Given the description of an element on the screen output the (x, y) to click on. 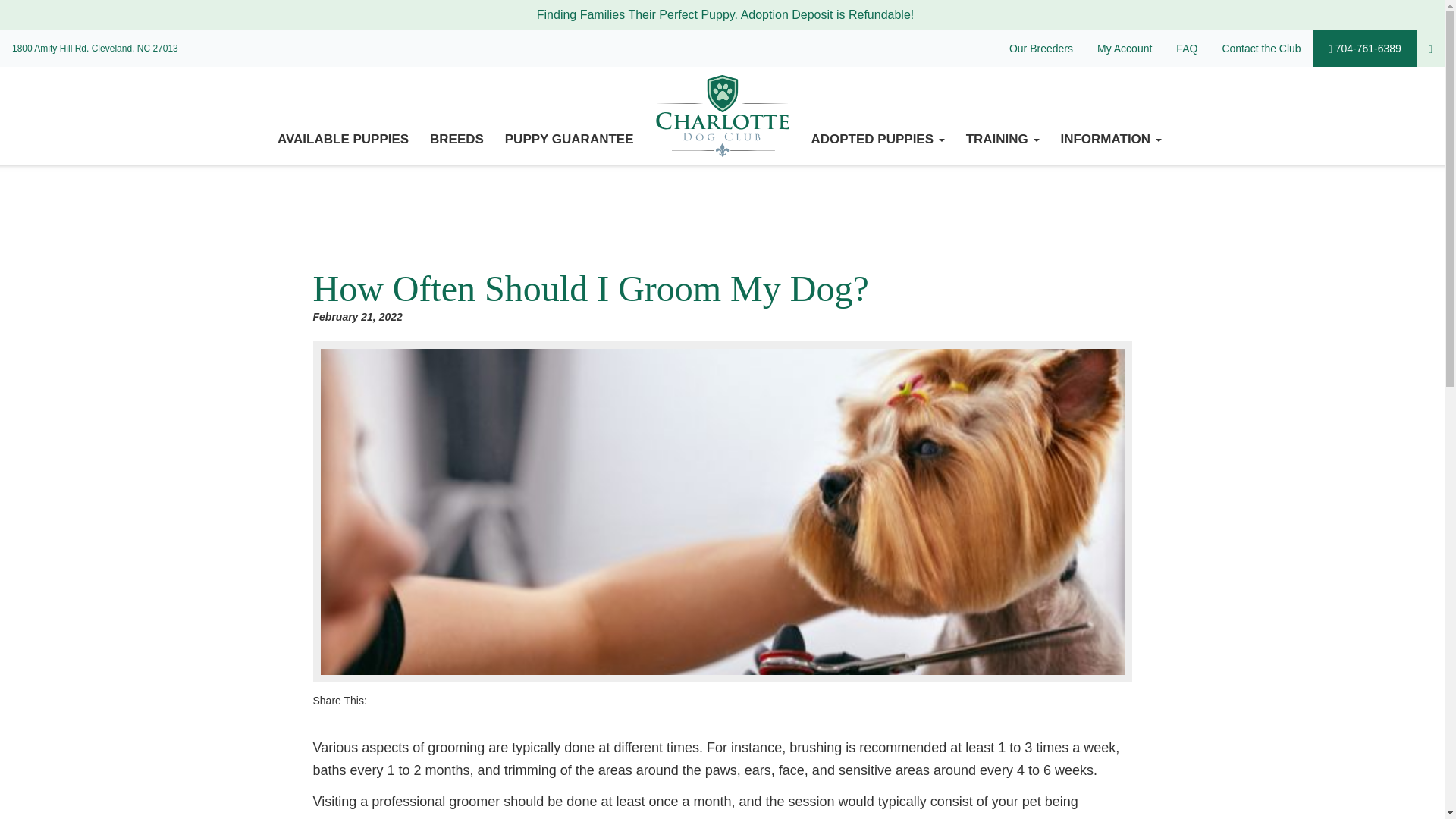
FAQ (1186, 48)
1800 Amity Hill Rd. Cleveland, NC 27013 (95, 48)
Our Breeders (1040, 48)
My Account (1123, 48)
Adoption Deposit is Refundable (826, 14)
